Given the description of an element on the screen output the (x, y) to click on. 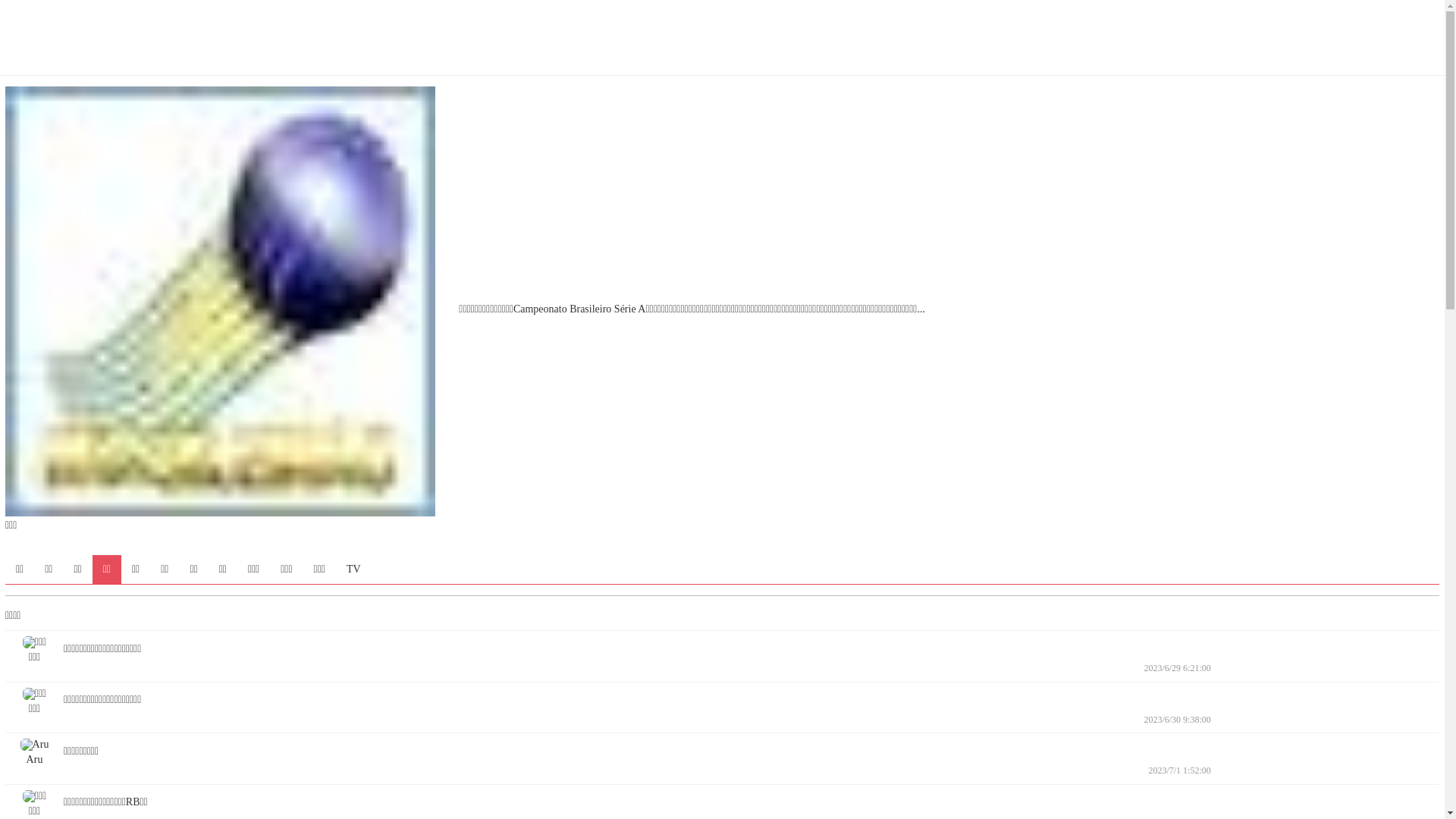
CBA Element type: text (558, 56)
TV Element type: text (353, 569)
NBA Element type: text (512, 56)
CCTV5 Element type: text (886, 56)
